Given the description of an element on the screen output the (x, y) to click on. 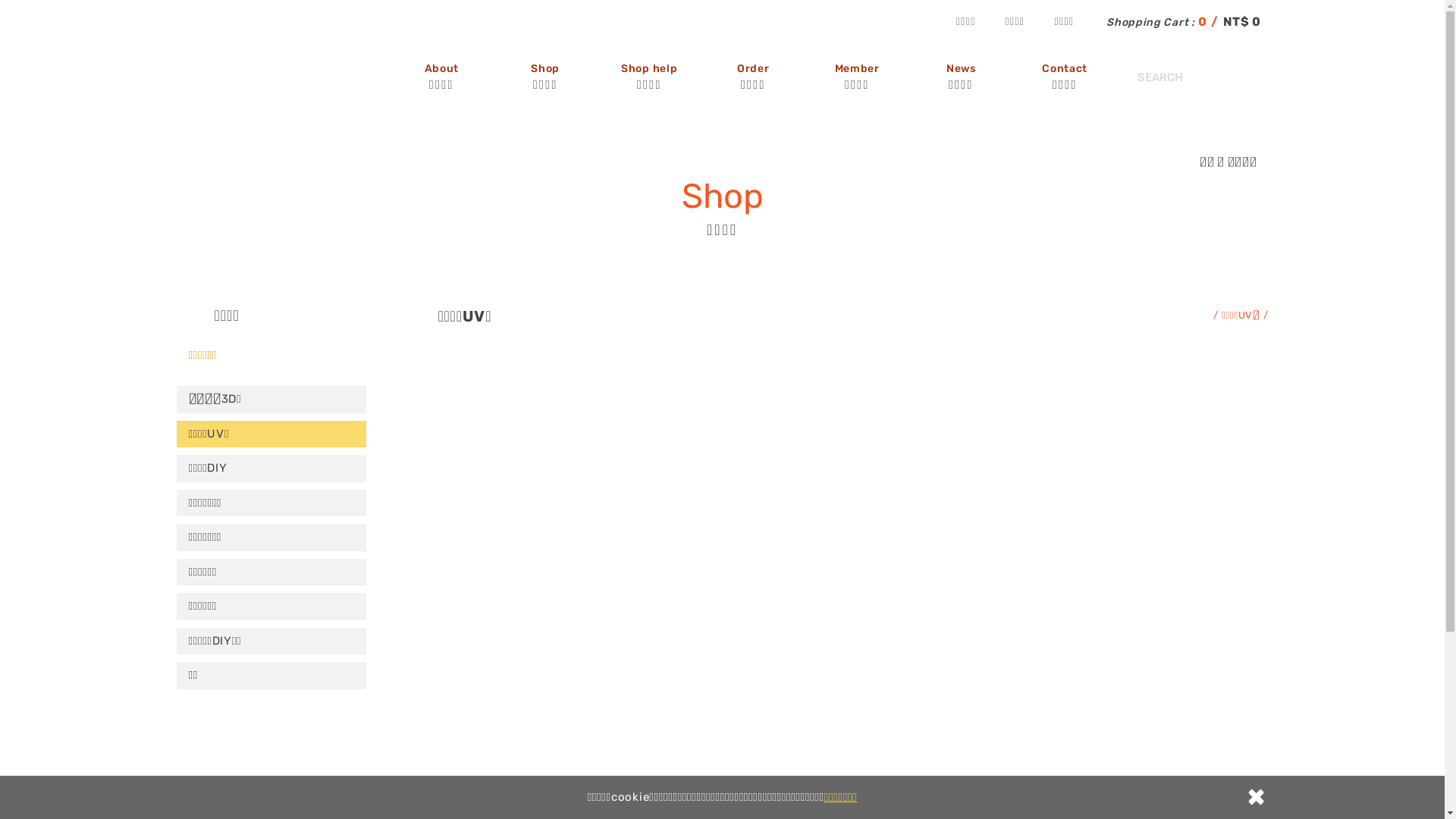
Search Element type: text (1254, 76)
17TAKE Element type: text (213, 53)
Shopping Cart : 0 / NT$ 0 Element type: text (1174, 22)
